Given the description of an element on the screen output the (x, y) to click on. 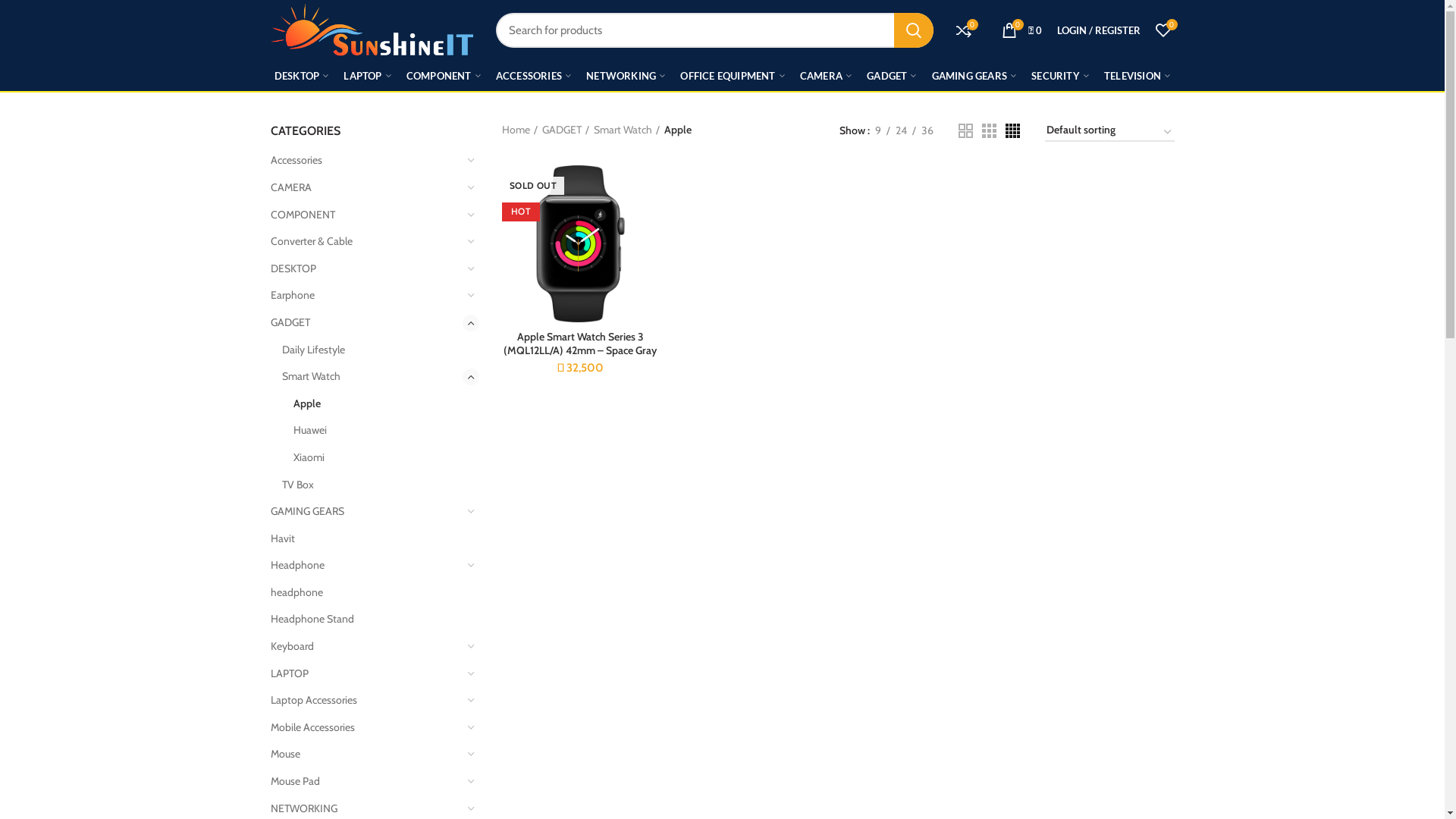
Earphone Element type: text (364, 295)
24 Element type: text (901, 130)
Havit Element type: text (364, 538)
ACCESSORIES Element type: text (533, 75)
TV Box Element type: text (371, 484)
NETWORKING Element type: text (625, 75)
DESKTOP Element type: text (301, 75)
GAMING GEARS Element type: text (364, 511)
Mouse Element type: text (364, 754)
GADGET Element type: text (891, 75)
GADGET Element type: text (364, 322)
36 Element type: text (927, 130)
LAPTOP Element type: text (366, 75)
CAMERA Element type: text (825, 75)
SEARCH Element type: text (912, 29)
headphone Element type: text (364, 592)
COMPONENT Element type: text (364, 215)
Mouse Pad Element type: text (364, 781)
0 Element type: text (1163, 30)
Apple Element type: text (376, 403)
GADGET Element type: text (565, 130)
Daily Lifestyle Element type: text (371, 350)
Mobile Accessories Element type: text (364, 727)
CAMERA Element type: text (364, 187)
Smart Watch Element type: text (626, 130)
Headphone Stand Element type: text (364, 619)
DESKTOP Element type: text (364, 268)
SECURITY Element type: text (1059, 75)
Accessories Element type: text (364, 160)
Converter & Cable Element type: text (364, 241)
LAPTOP Element type: text (364, 673)
Smart Watch Element type: text (371, 376)
COMPONENT Element type: text (443, 75)
Xiaomi Element type: text (376, 457)
0 Element type: text (962, 30)
9 Element type: text (877, 130)
SOLD OUT
HOT Element type: text (580, 243)
Home Element type: text (519, 130)
Headphone Element type: text (364, 565)
GAMING GEARS Element type: text (974, 75)
TELEVISION Element type: text (1136, 75)
OFFICE EQUIPMENT Element type: text (731, 75)
Laptop Accessories Element type: text (364, 700)
LOGIN / REGISTER Element type: text (1098, 30)
Keyboard Element type: text (364, 646)
Huawei Element type: text (376, 430)
